Given the description of an element on the screen output the (x, y) to click on. 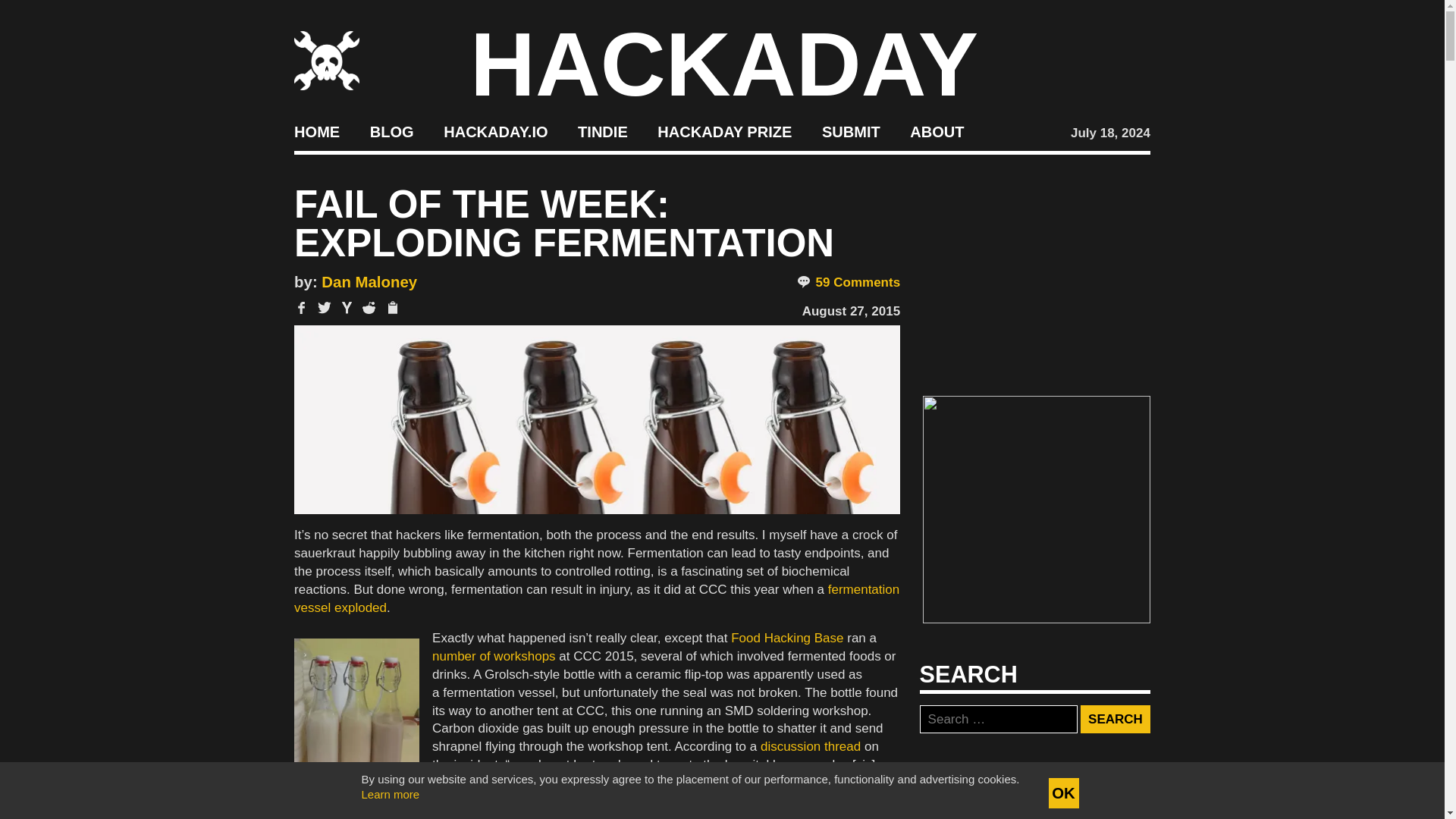
59 Comments (847, 282)
discussion thread (810, 746)
Share on Hacker News (347, 307)
HACKADAY.IO (495, 131)
number of workshops (494, 656)
HOME (316, 131)
Posts by Dan Maloney (368, 281)
Share on Reddit (369, 307)
SUBMIT (851, 131)
fermentation vessel exploded (596, 598)
August 27, 2015 (850, 310)
Share on Facebook (301, 307)
Search (1115, 719)
Copy title or shortlink (391, 308)
HACKADAY (724, 63)
